Given the description of an element on the screen output the (x, y) to click on. 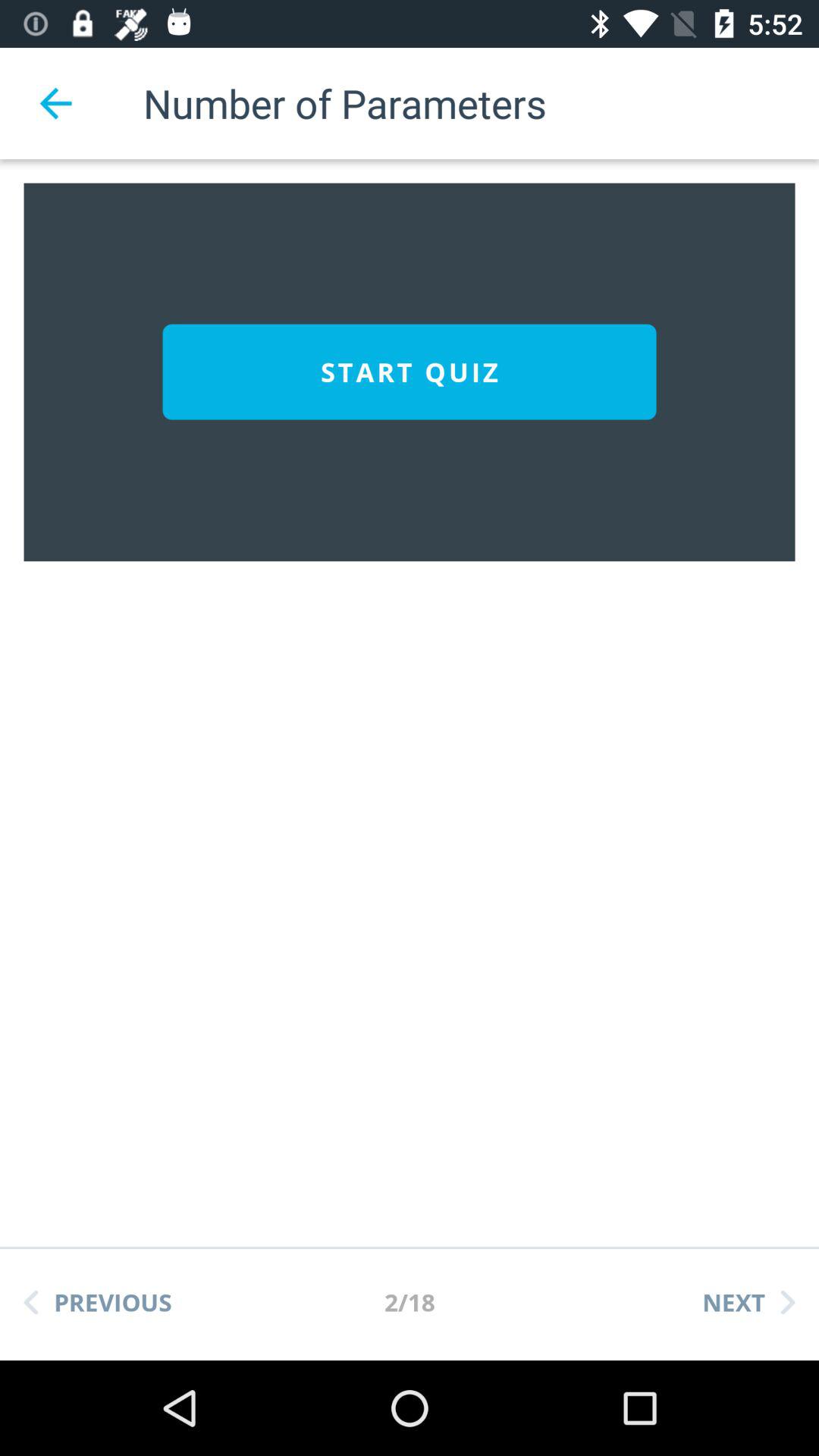
select the icon to the right of the 2/18 item (748, 1302)
